Given the description of an element on the screen output the (x, y) to click on. 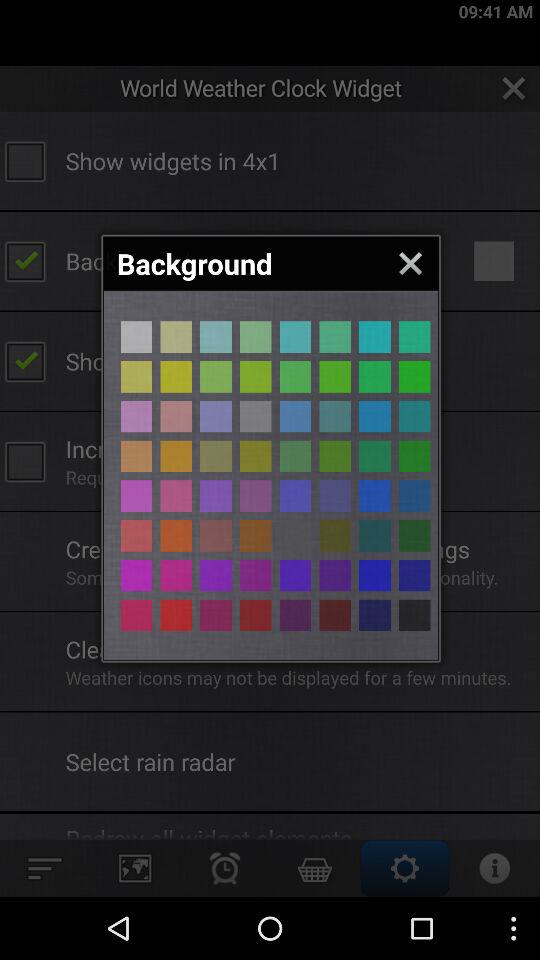
color button (215, 495)
